Given the description of an element on the screen output the (x, y) to click on. 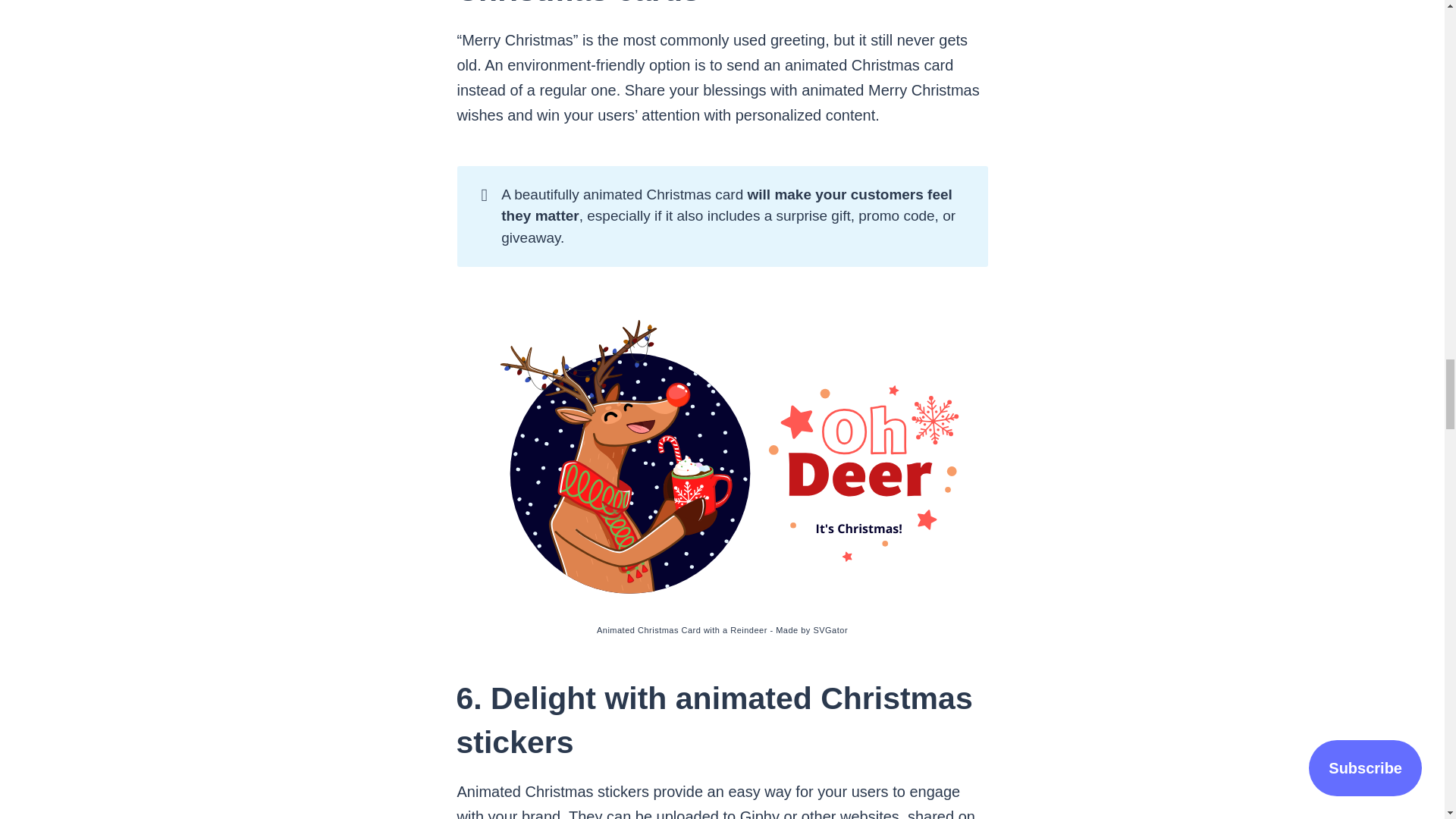
Giphy (758, 813)
